Given the description of an element on the screen output the (x, y) to click on. 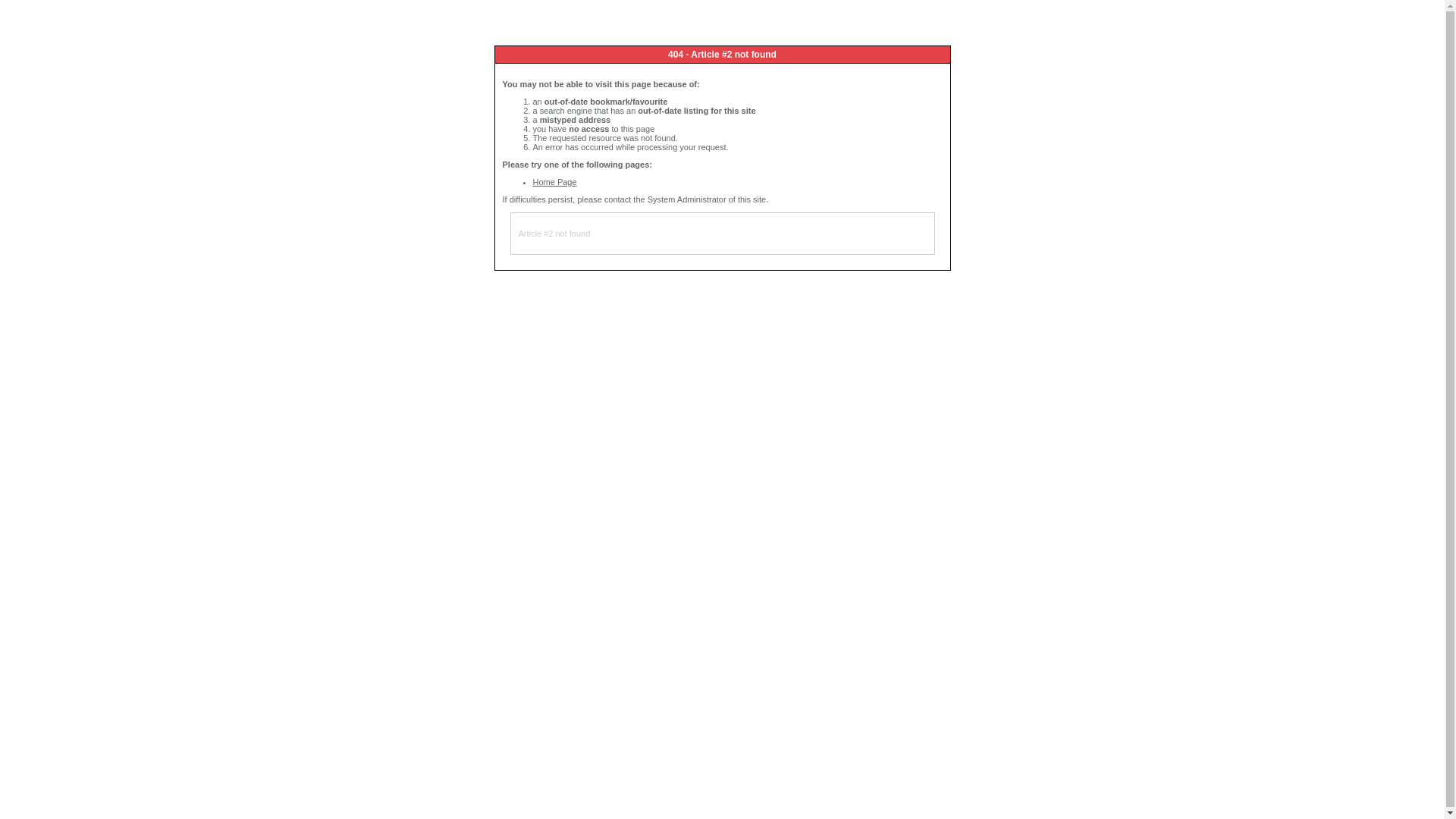
Home Page Element type: text (554, 181)
